Given the description of an element on the screen output the (x, y) to click on. 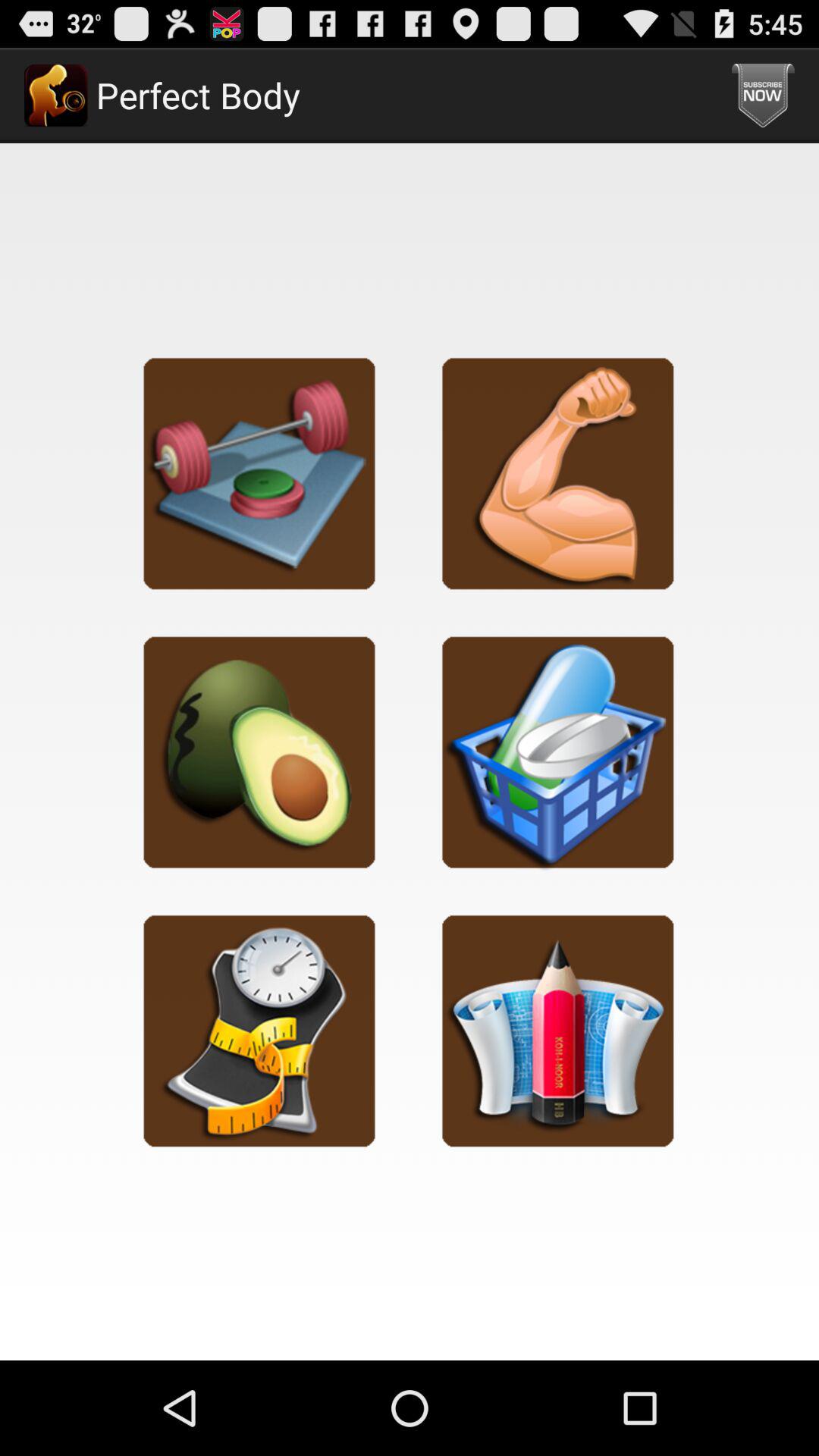
select diet category (259, 751)
